Given the description of an element on the screen output the (x, y) to click on. 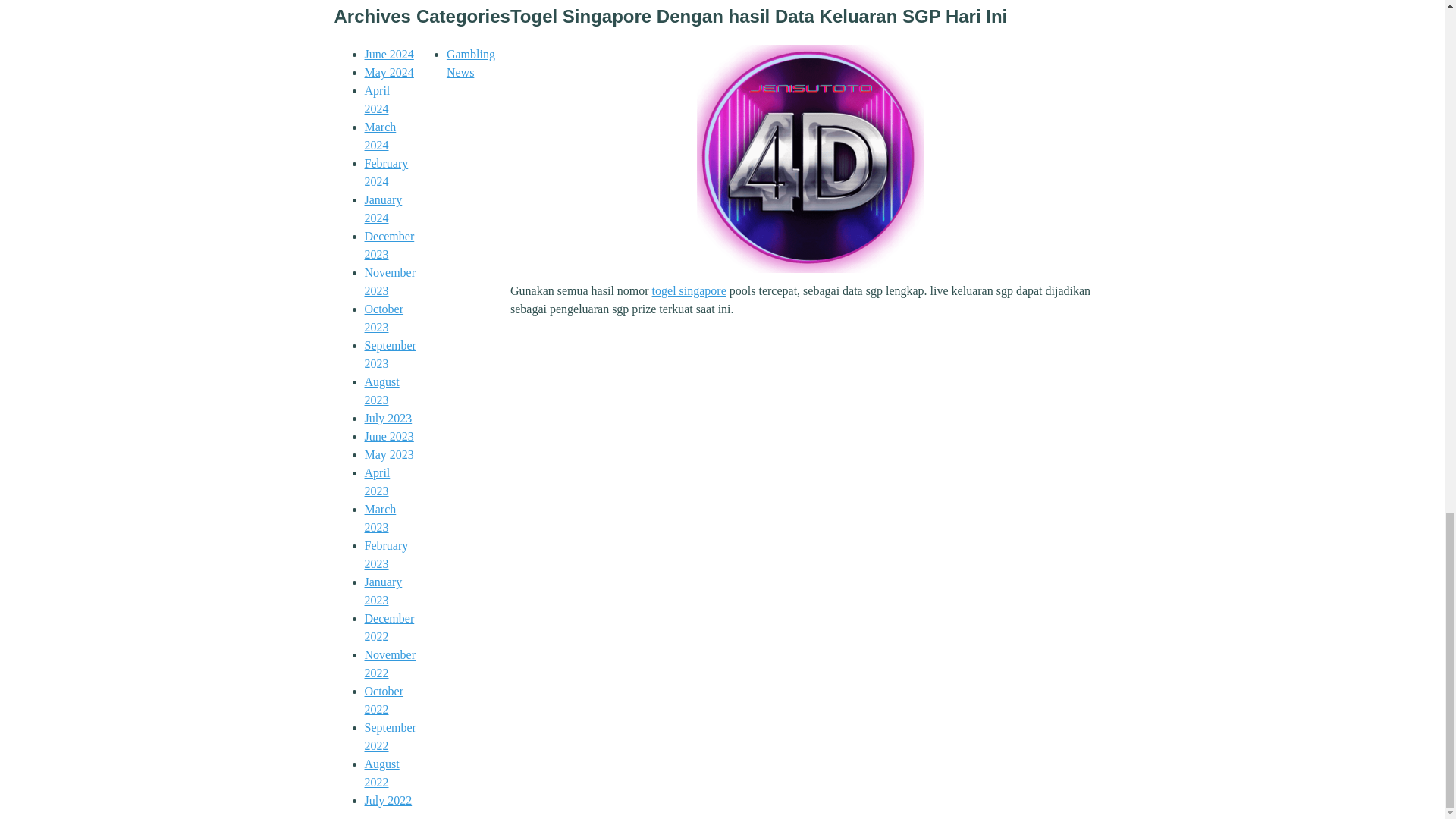
February 2024 (385, 172)
January 2024 (382, 208)
March 2023 (380, 517)
May 2024 (388, 72)
March 2024 (380, 135)
November 2022 (389, 663)
October 2023 (383, 317)
November 2023 (389, 281)
July 2023 (388, 418)
December 2022 (388, 626)
